Given the description of an element on the screen output the (x, y) to click on. 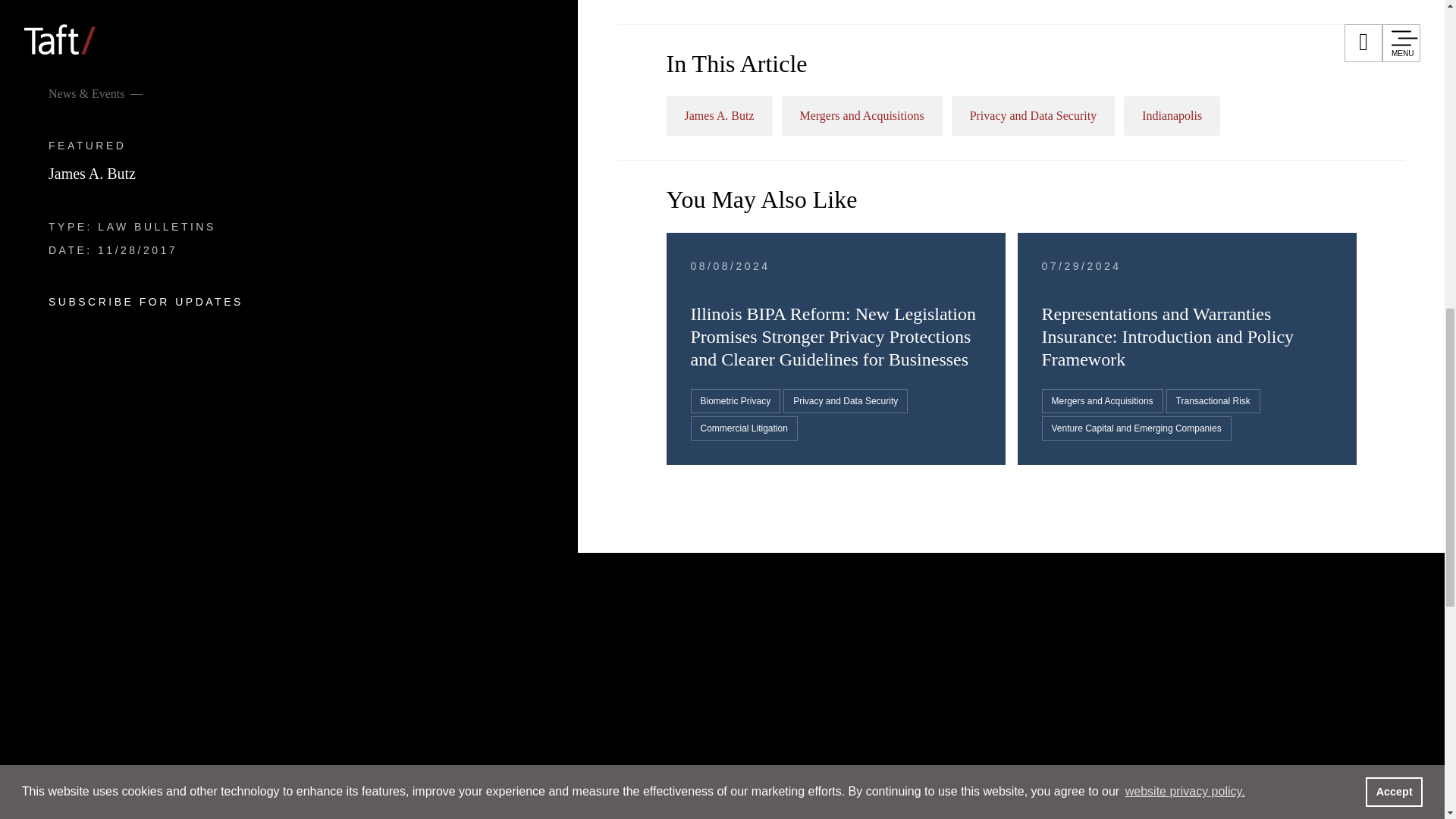
Contact Us (836, 610)
Affiliates (753, 610)
Accessibility (1242, 610)
Terms and Conditions (1114, 610)
Privacy (1002, 610)
Services (144, 265)
About (124, 624)
Subscribe (925, 610)
Payments (861, 636)
People (129, 176)
